Given the description of an element on the screen output the (x, y) to click on. 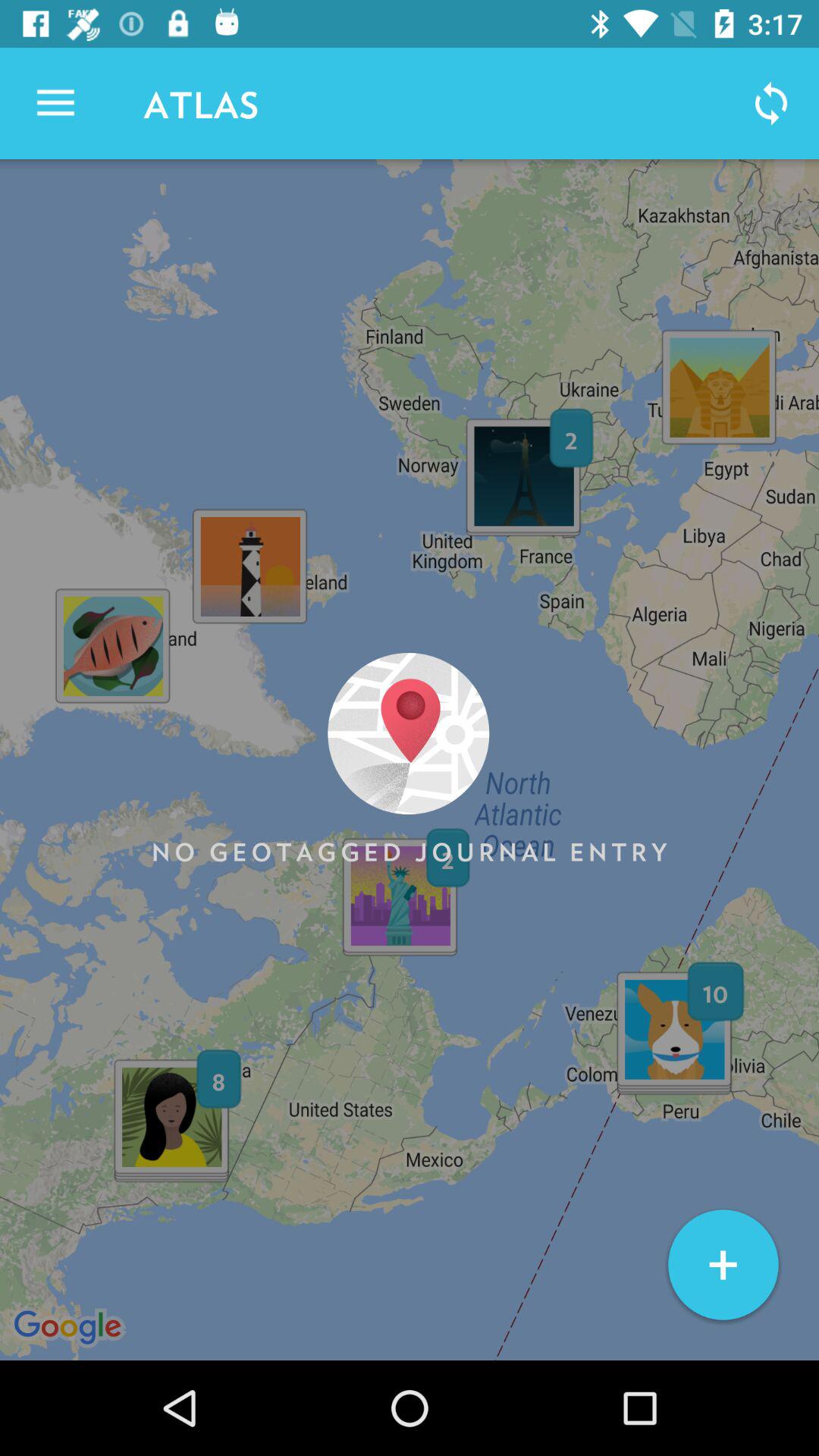
turn on icon to the left of atlas item (55, 103)
